Given the description of an element on the screen output the (x, y) to click on. 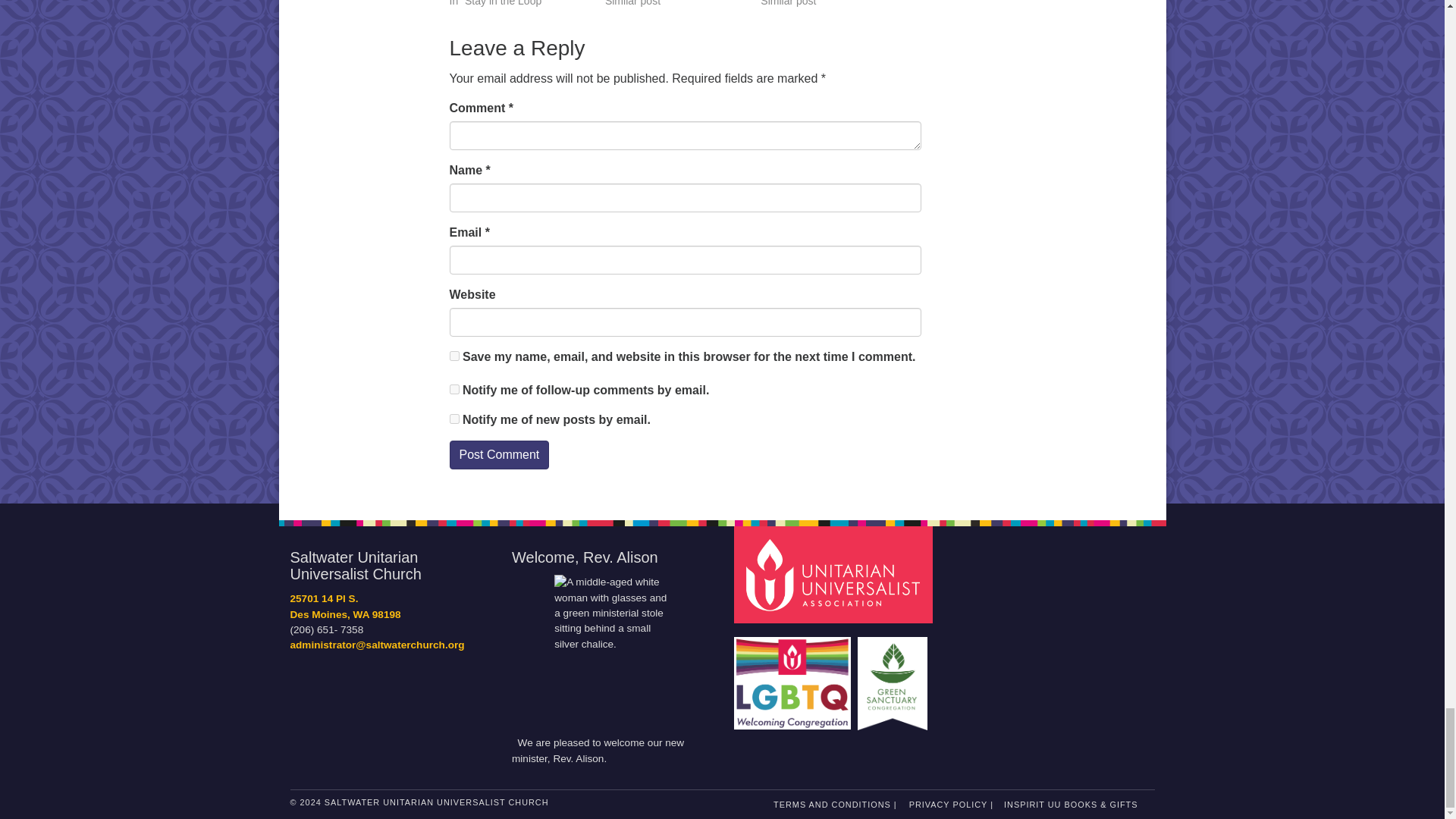
subscribe (453, 388)
subscribe (453, 419)
yes (453, 356)
Post Comment (498, 454)
